Given the description of an element on the screen output the (x, y) to click on. 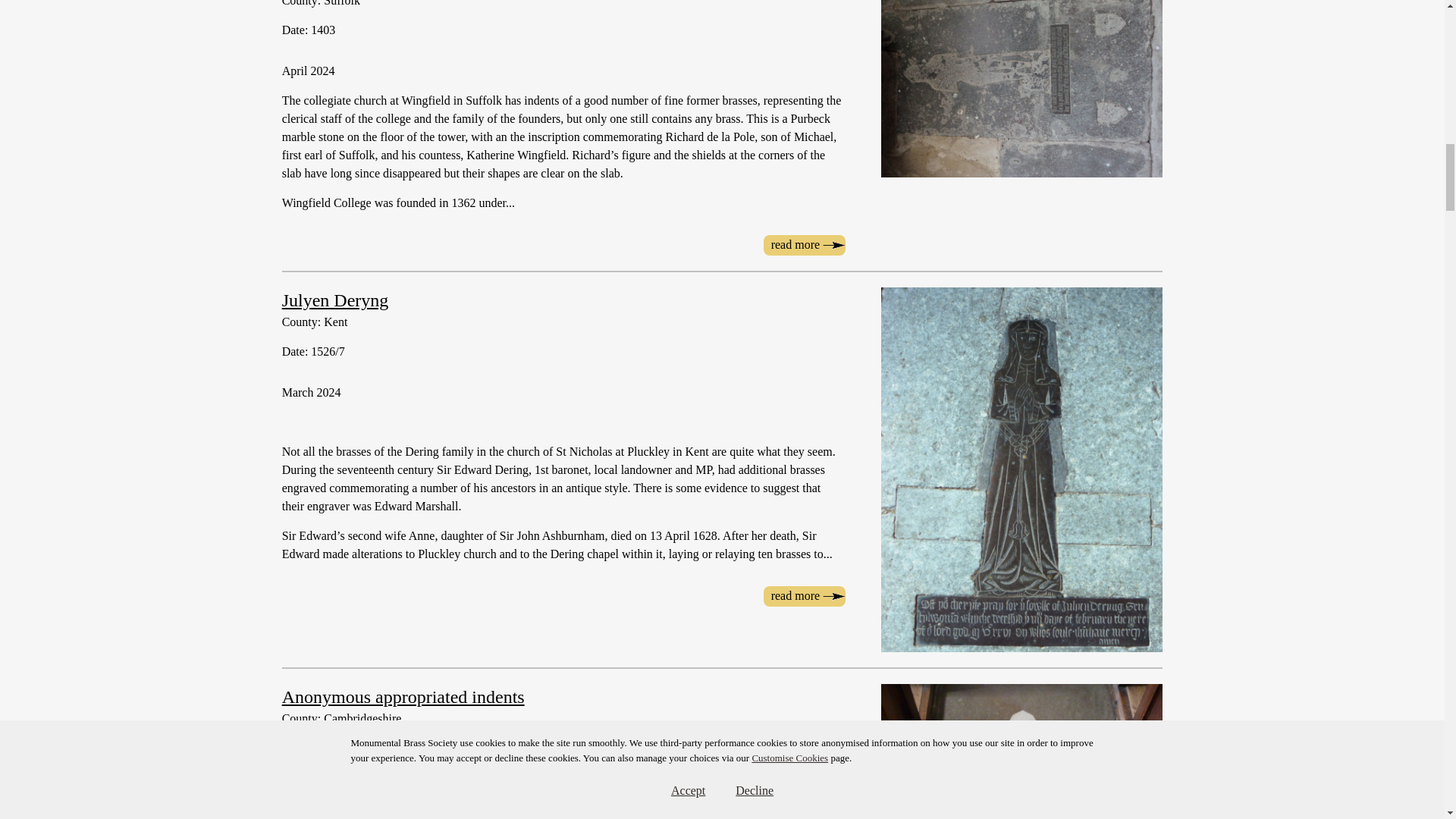
Richard de la Pole (803, 245)
Anonymous appropriated indents (403, 696)
Julyen Deryng (335, 300)
read more (803, 245)
Julyen Deryng (803, 596)
Julyen Deryng (335, 300)
read more (803, 596)
